Given the description of an element on the screen output the (x, y) to click on. 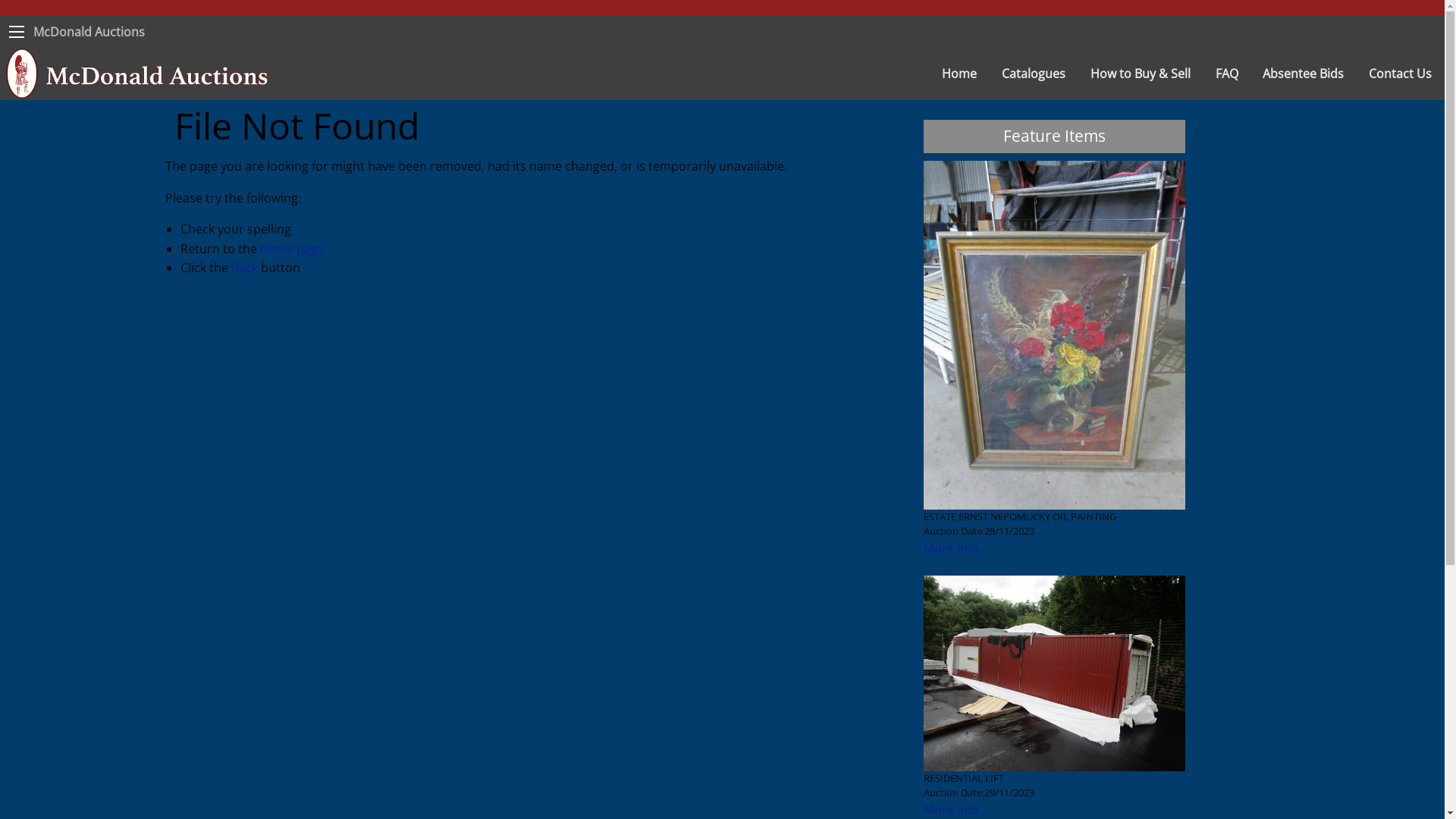
Catalogues Element type: text (1033, 73)
Absentee Bids Element type: text (1303, 73)
home page Element type: text (291, 248)
More Info... Element type: text (955, 547)
How to Buy & Sell Element type: text (1140, 73)
More Info... Element type: text (955, 809)
McDonald Auctions Element type: text (88, 31)
FAQ Element type: text (1227, 73)
Back Element type: text (243, 267)
Contact Us Element type: text (1400, 73)
Home Element type: text (959, 73)
